Given the description of an element on the screen output the (x, y) to click on. 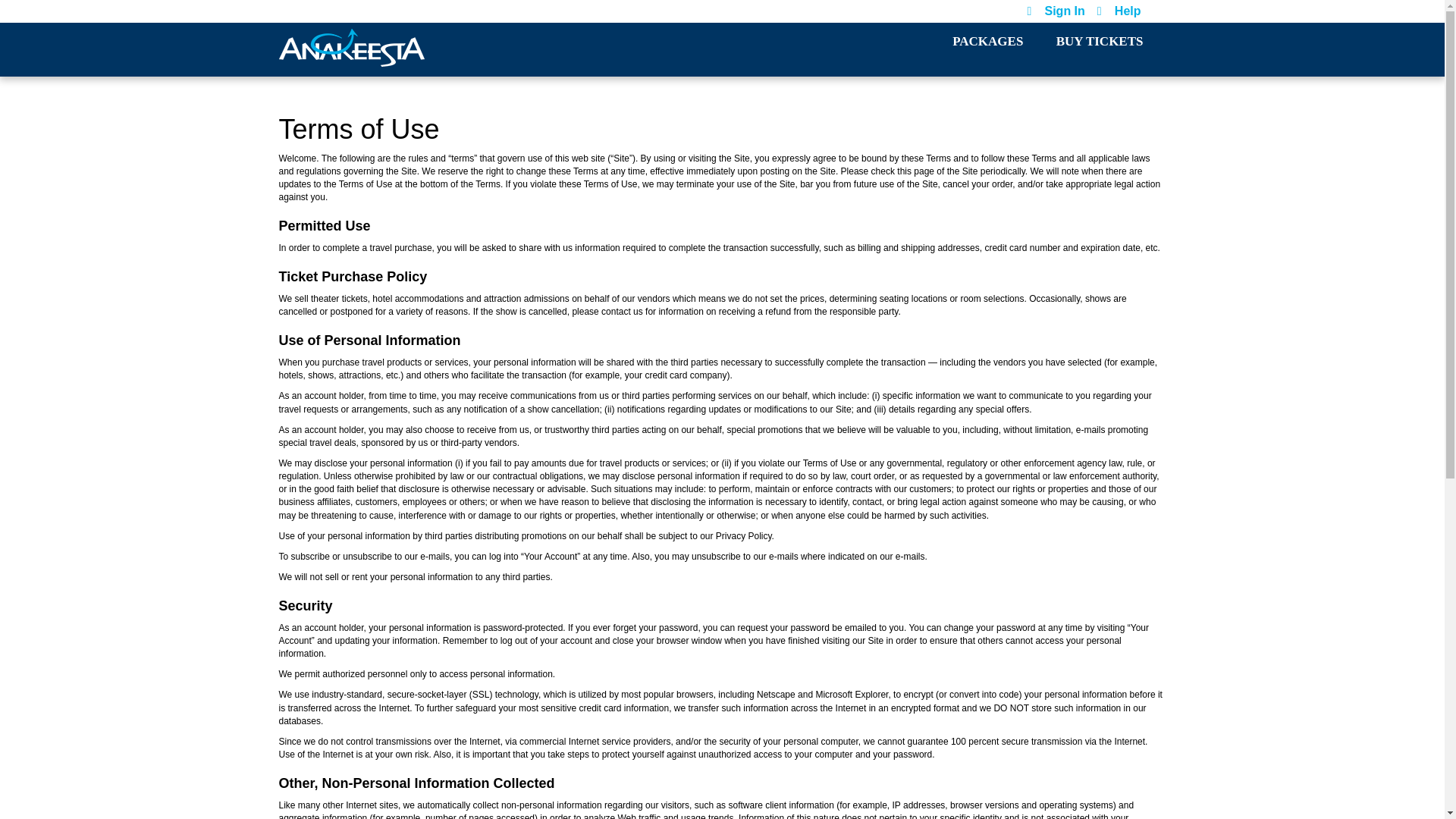
Help (1118, 11)
BUY TICKETS (1099, 42)
Sign In (1055, 11)
PACKAGES (987, 42)
